Given the description of an element on the screen output the (x, y) to click on. 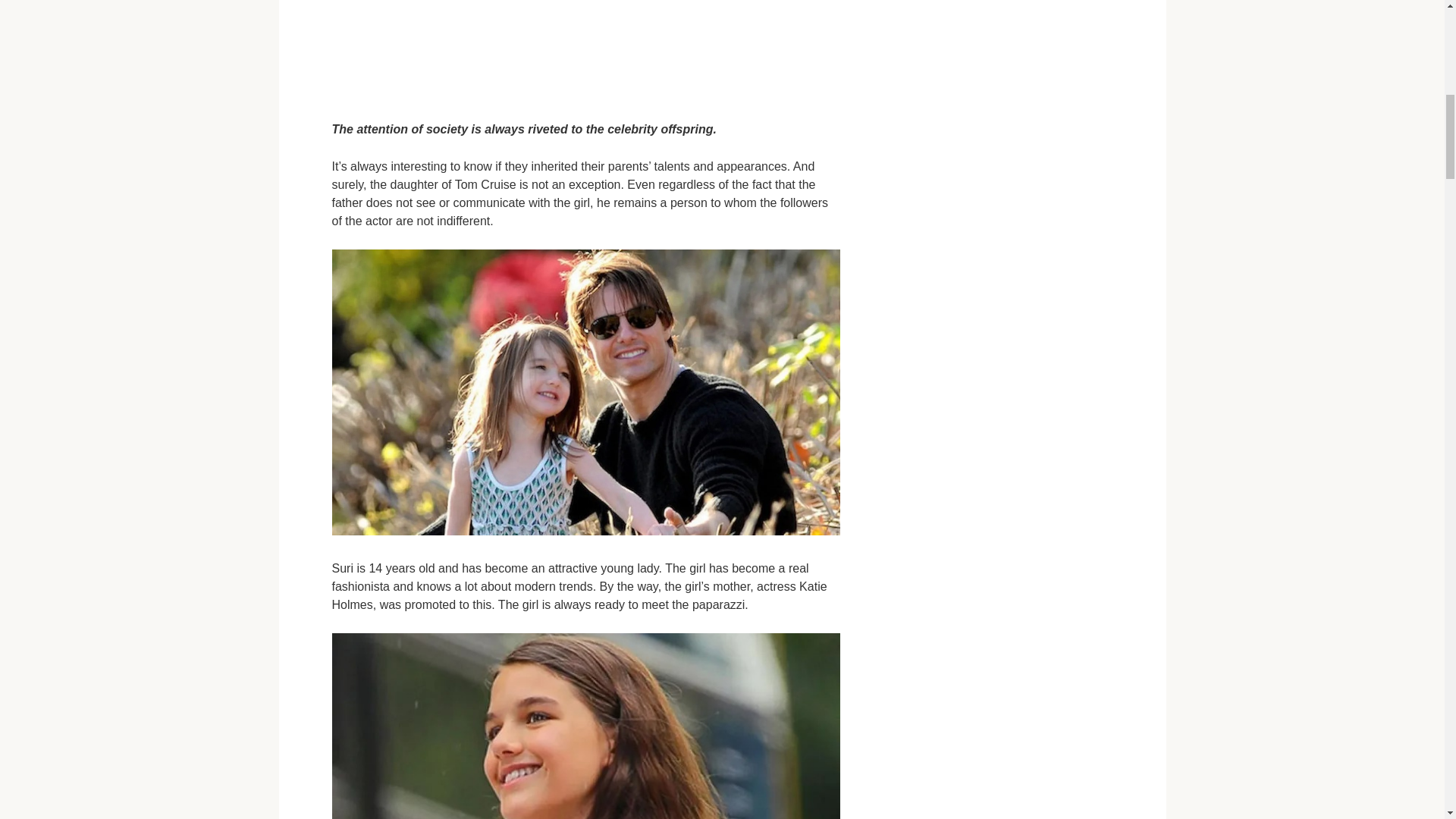
Advertisement (585, 50)
